Given the description of an element on the screen output the (x, y) to click on. 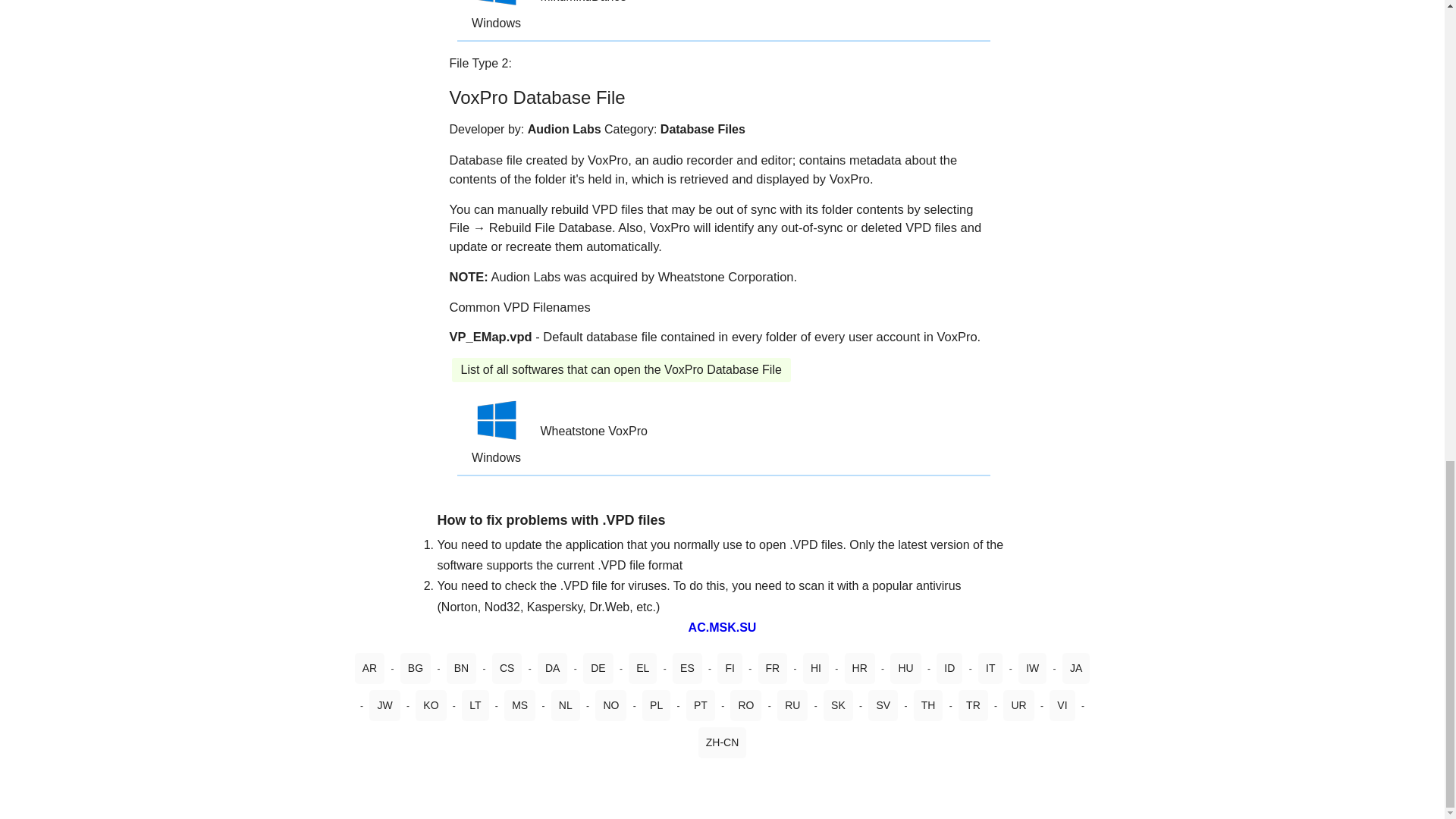
AC.MSK.SU (722, 626)
ZH-CN (722, 742)
BN (461, 667)
HR (859, 667)
SK (838, 705)
RU (791, 705)
BG (415, 667)
PL (655, 705)
RO (746, 705)
HU (905, 667)
